Given the description of an element on the screen output the (x, y) to click on. 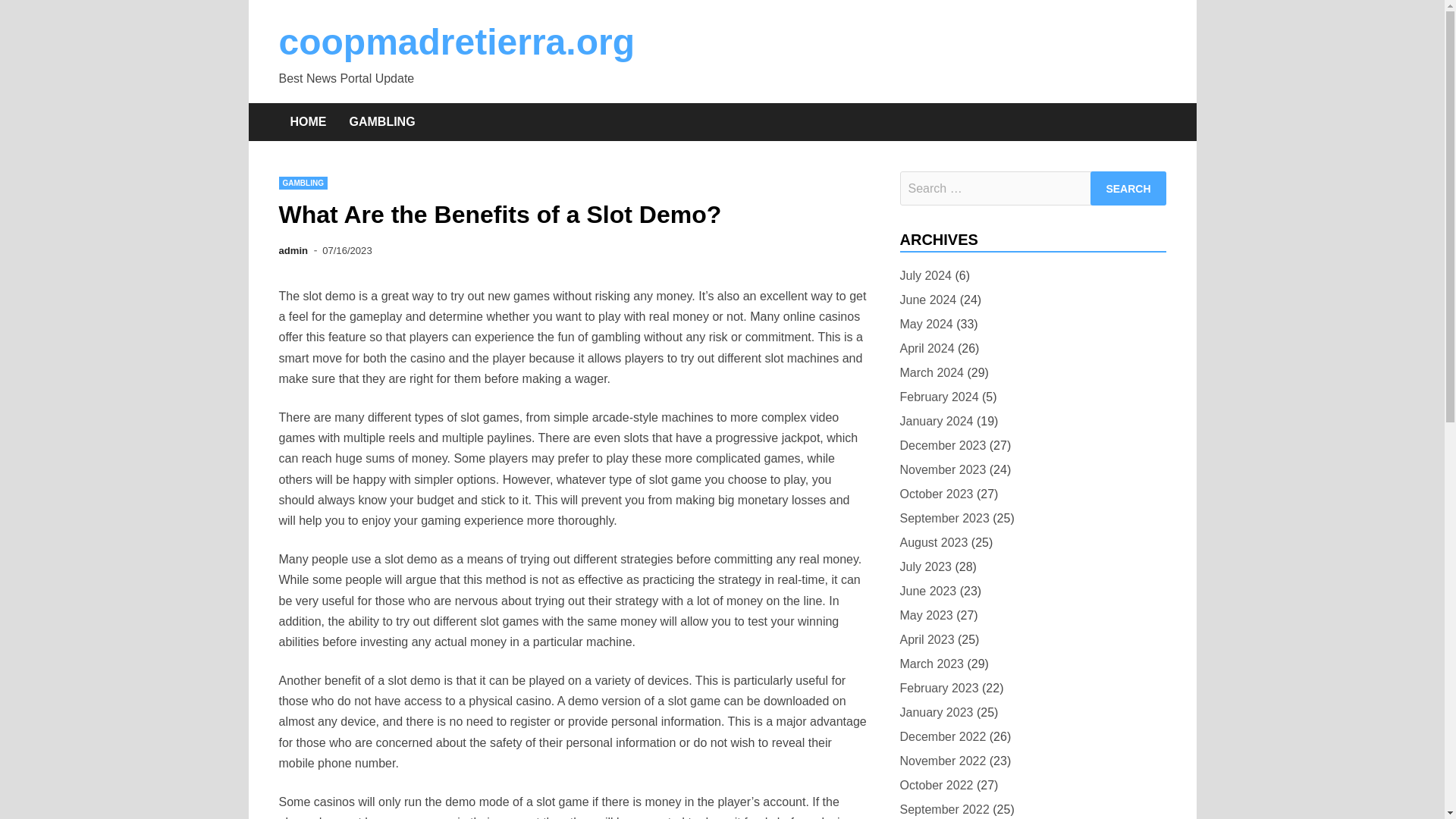
April 2024 (926, 348)
June 2024 (927, 299)
May 2024 (925, 323)
July 2024 (925, 275)
August 2023 (933, 542)
November 2023 (942, 469)
coopmadretierra.org (456, 42)
January 2024 (935, 421)
October 2023 (935, 494)
December 2022 (942, 736)
Search (1128, 188)
March 2024 (931, 372)
February 2023 (938, 688)
GAMBLING (303, 182)
March 2023 (931, 663)
